Given the description of an element on the screen output the (x, y) to click on. 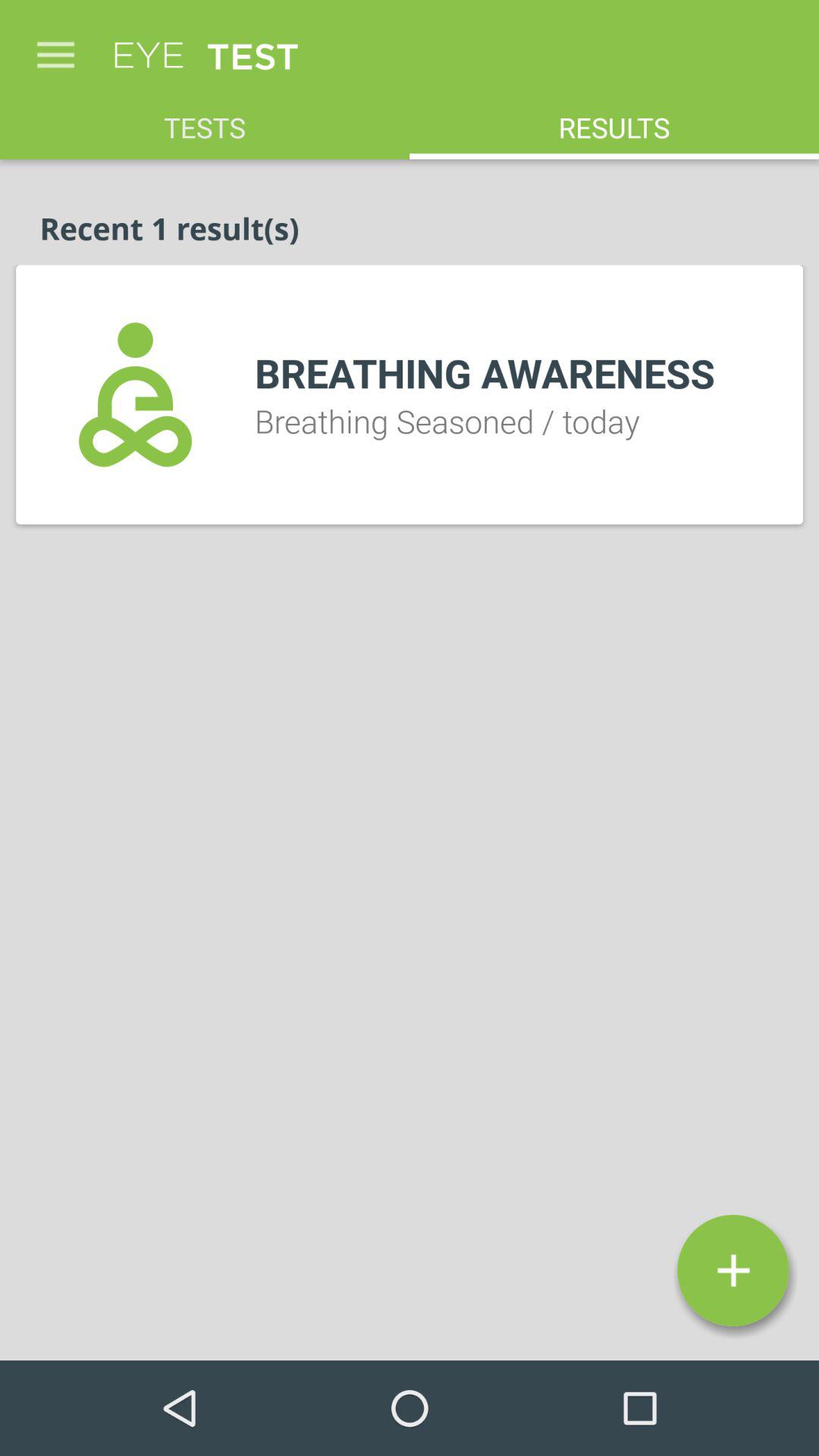
flip until tests (204, 119)
